Given the description of an element on the screen output the (x, y) to click on. 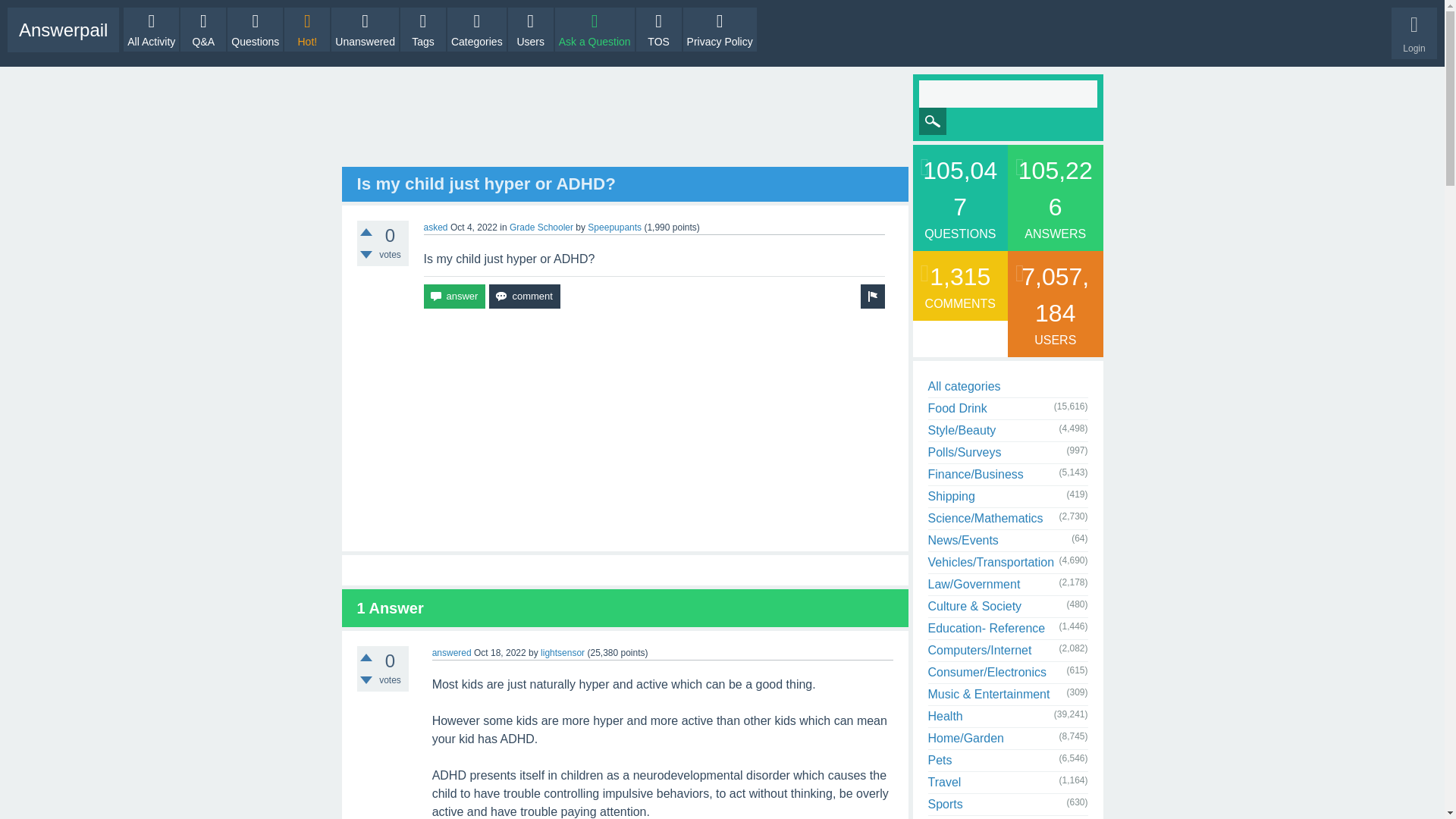
asked (434, 226)
Advertisement (624, 429)
TOS (658, 29)
All Activity (151, 29)
Questions (254, 29)
Click to vote down (365, 679)
Search (932, 121)
comment (524, 296)
Advertisement (624, 120)
Flag this question as spam or inappropriate (872, 296)
